Given the description of an element on the screen output the (x, y) to click on. 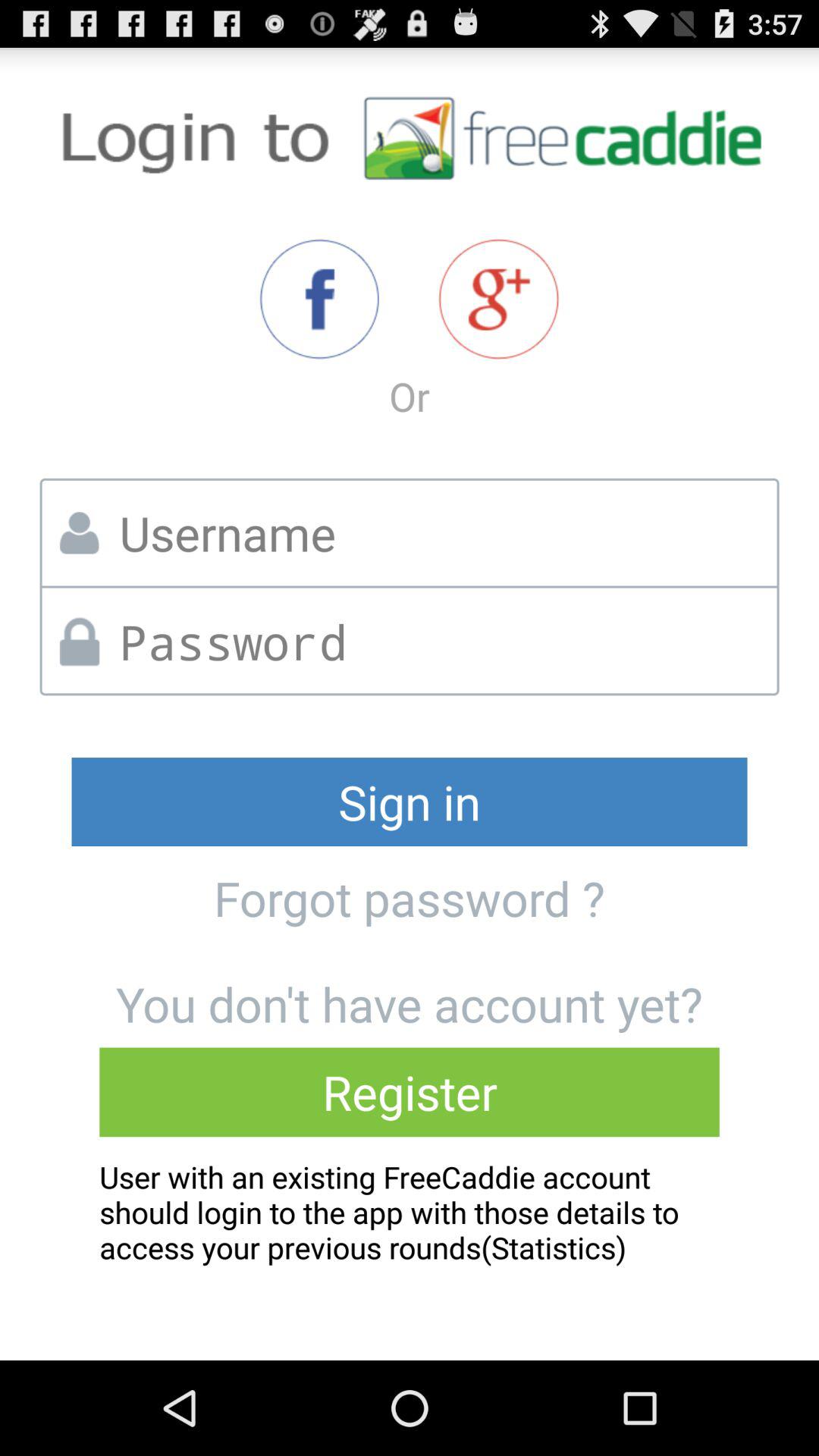
click the item below the you don t icon (409, 1091)
